Given the description of an element on the screen output the (x, y) to click on. 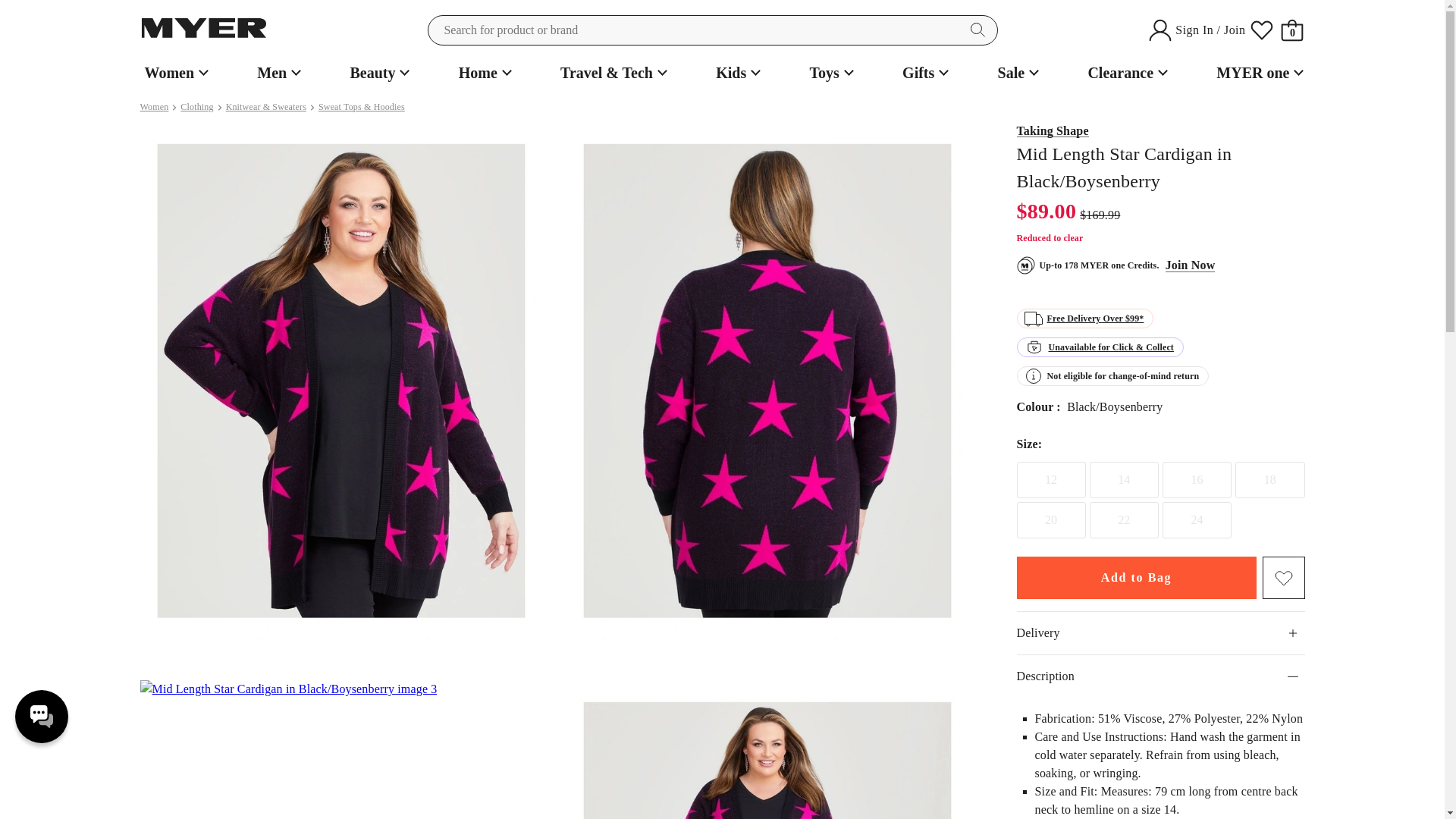
Click here to toggle the virtual assistant (41, 716)
Women (174, 72)
0 (1291, 30)
